Given the description of an element on the screen output the (x, y) to click on. 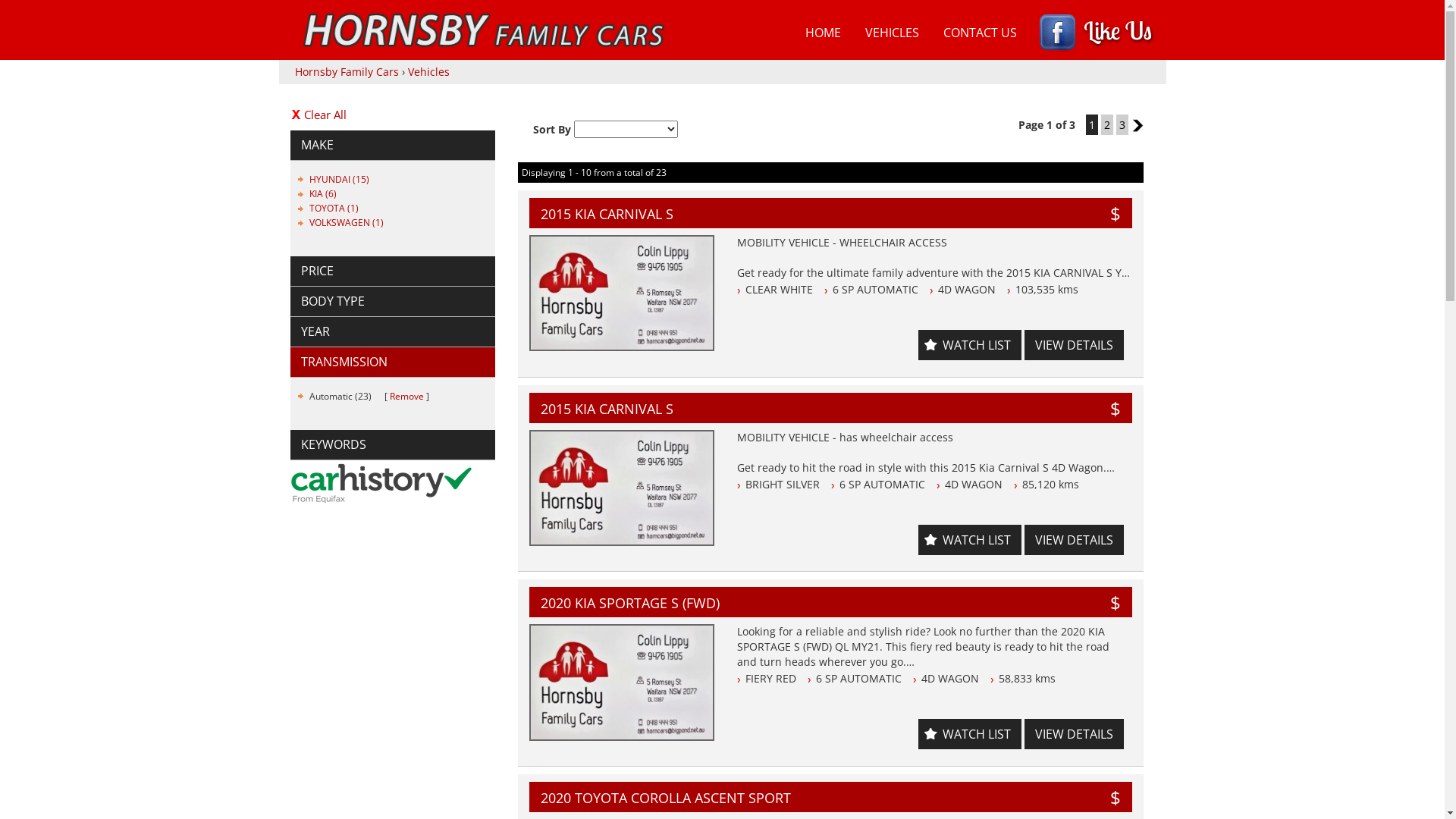
Vehicles Element type: text (428, 71)
$ Element type: text (1115, 796)
2015 KIA CARNIVAL S Element type: text (754, 213)
$ Element type: text (1115, 212)
3 Element type: text (1122, 124)
1 Element type: text (1091, 124)
Hornsby Family Cars Element type: text (346, 71)
WATCH LIST Element type: text (969, 539)
2020 KIA SPORTAGE S (FWD) Element type: text (754, 602)
2 Element type: text (1137, 124)
CONTACT US Element type: text (980, 32)
2 Element type: text (1107, 124)
$ Element type: text (1115, 407)
VIEW DETAILS Element type: text (1073, 344)
2020 TOYOTA COROLLA ASCENT SPORT Element type: text (754, 797)
WATCH LIST Element type: text (969, 344)
WATCH LIST Element type: text (969, 733)
HOME Element type: text (823, 32)
$ Element type: text (1115, 602)
VOLKSWAGEN (1) Element type: text (346, 222)
Clear All Element type: text (391, 114)
HYUNDAI (15) Element type: text (339, 178)
VIEW DETAILS Element type: text (1073, 539)
2015 KIA CARNIVAL S Element type: text (754, 408)
KIA (6) Element type: text (322, 193)
TOYOTA (1) Element type: text (333, 207)
VIEW DETAILS Element type: text (1073, 733)
Remove Element type: text (406, 395)
VEHICLES Element type: text (891, 32)
